Given the description of an element on the screen output the (x, y) to click on. 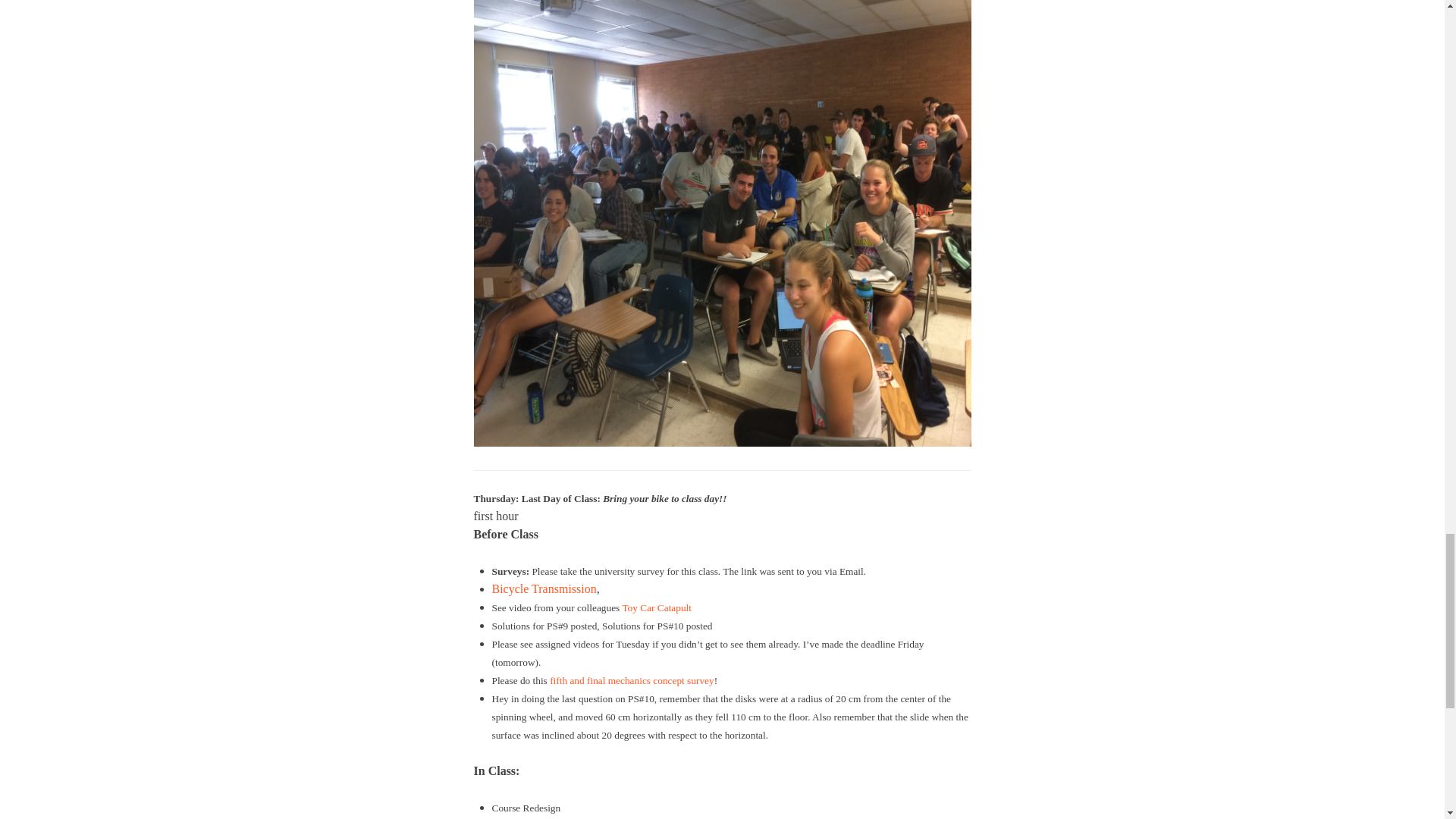
fifth and final mechanics concept survey (630, 680)
Bicycle Transmission (543, 588)
Toy Car Catapult (656, 607)
